Given the description of an element on the screen output the (x, y) to click on. 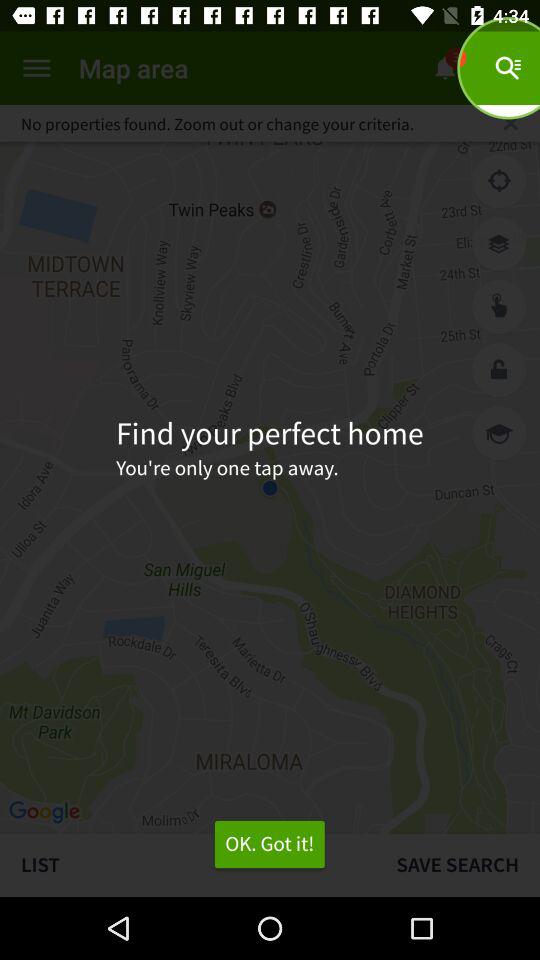
selects item (499, 307)
